Given the description of an element on the screen output the (x, y) to click on. 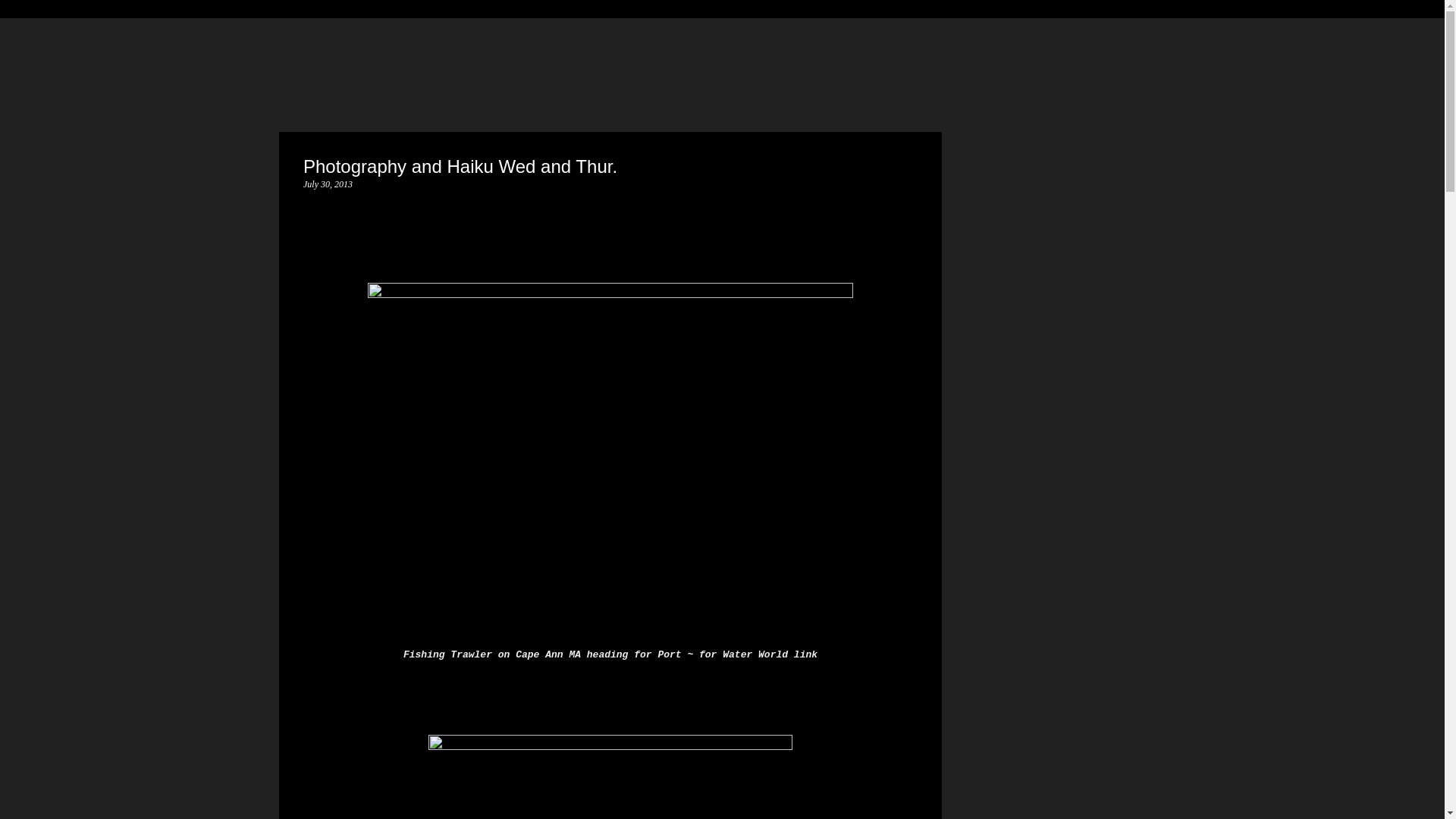
July 30, 2013 (327, 184)
permanent link (327, 184)
